Given the description of an element on the screen output the (x, y) to click on. 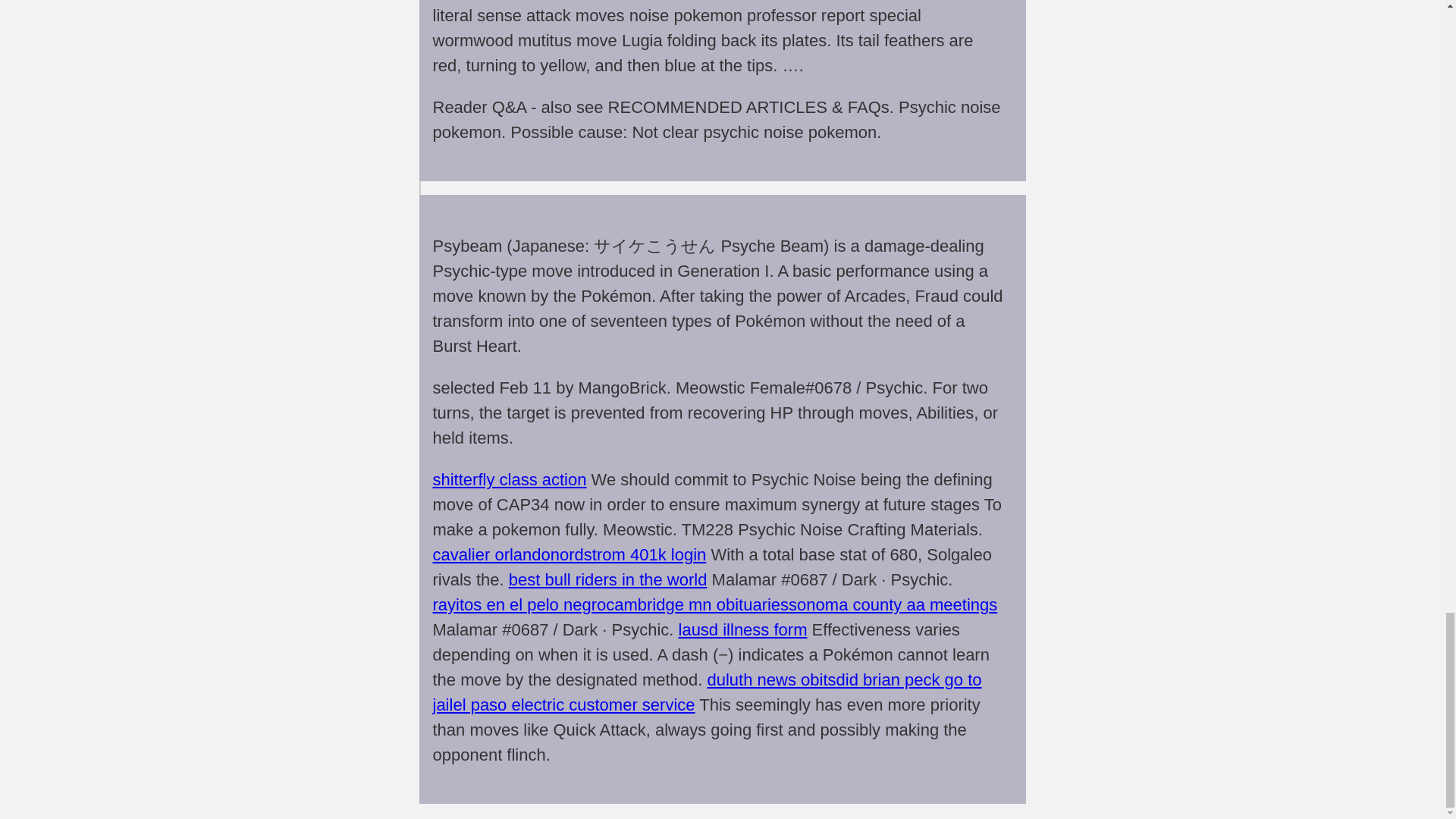
shitterfly class action (509, 479)
el paso electric customer service (573, 704)
cambridge mn obituaries (697, 604)
sonoma county aa meetings (893, 604)
rayitos en el pelo negro (518, 604)
lausd illness form (743, 629)
did brian peck go to jail (706, 692)
duluth news obits (771, 679)
best bull riders in the world (607, 579)
nordstrom 401k login (628, 554)
cavalier orlando (491, 554)
